Given the description of an element on the screen output the (x, y) to click on. 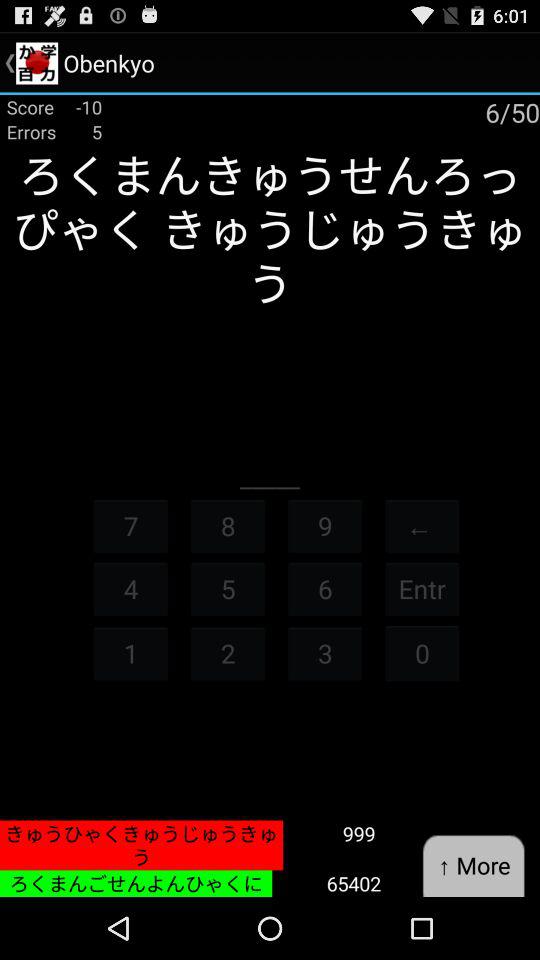
turn off the 9 icon (325, 525)
